Given the description of an element on the screen output the (x, y) to click on. 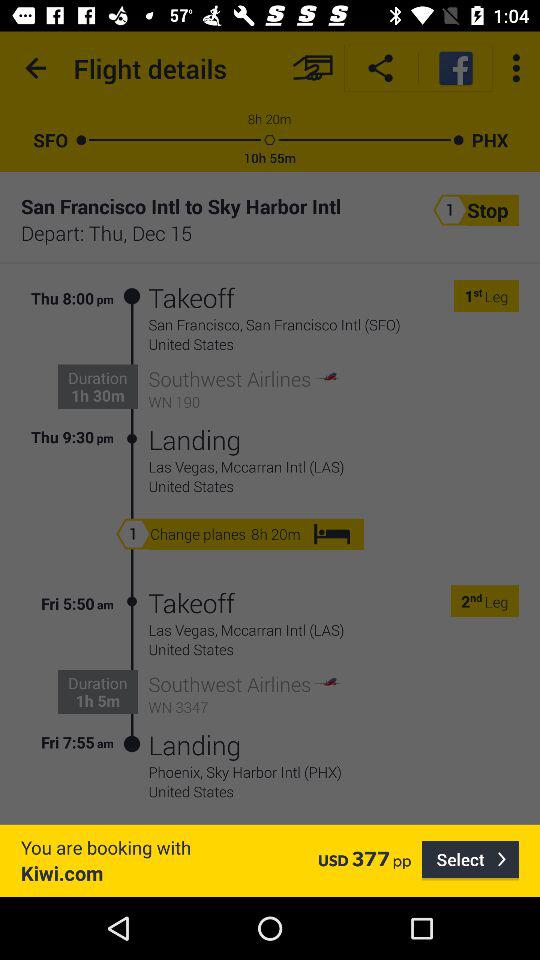
open icon next to the leg item (476, 600)
